Given the description of an element on the screen output the (x, y) to click on. 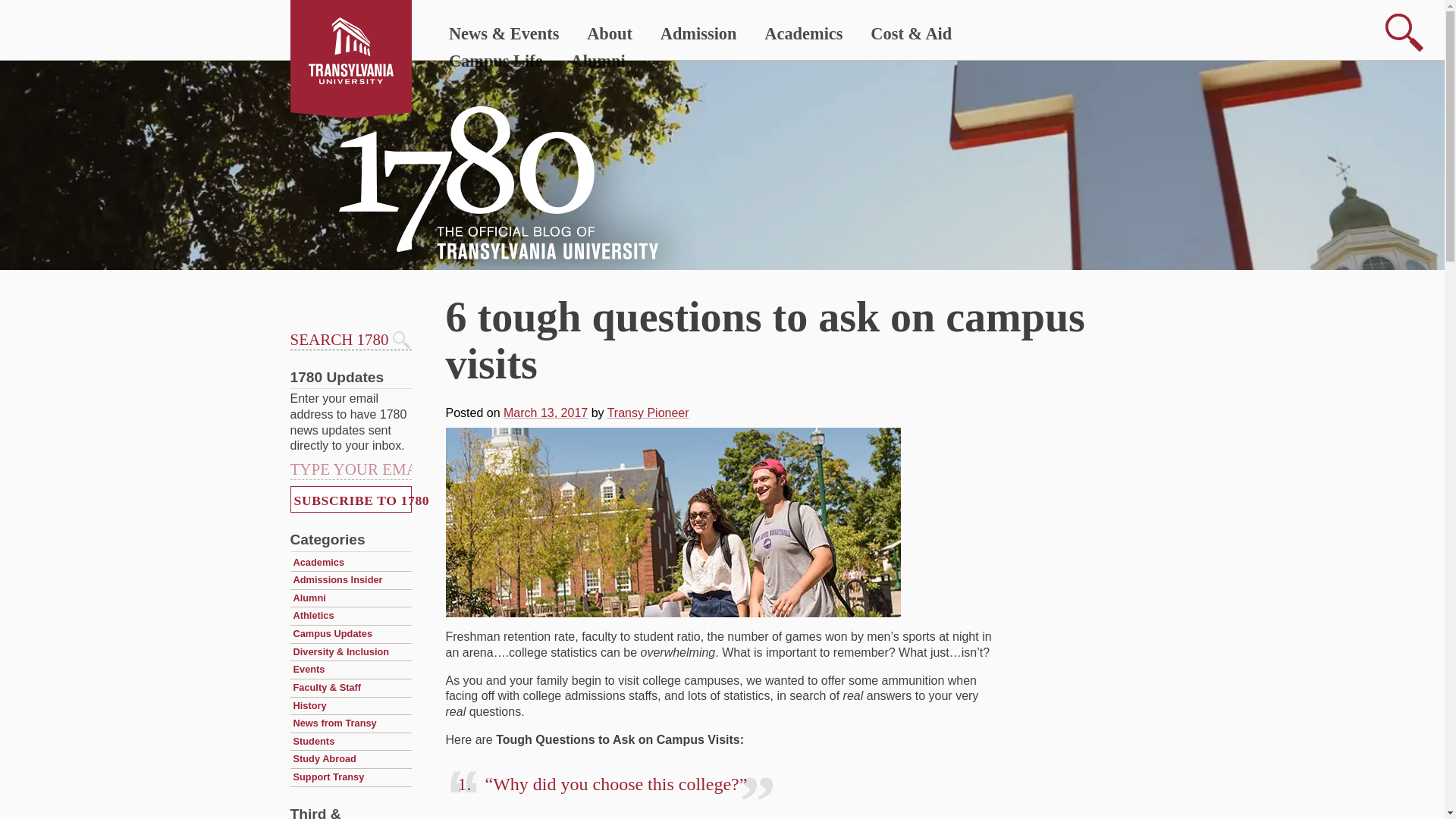
About (609, 34)
Admission (698, 34)
Please fill in this field. (349, 469)
